Given the description of an element on the screen output the (x, y) to click on. 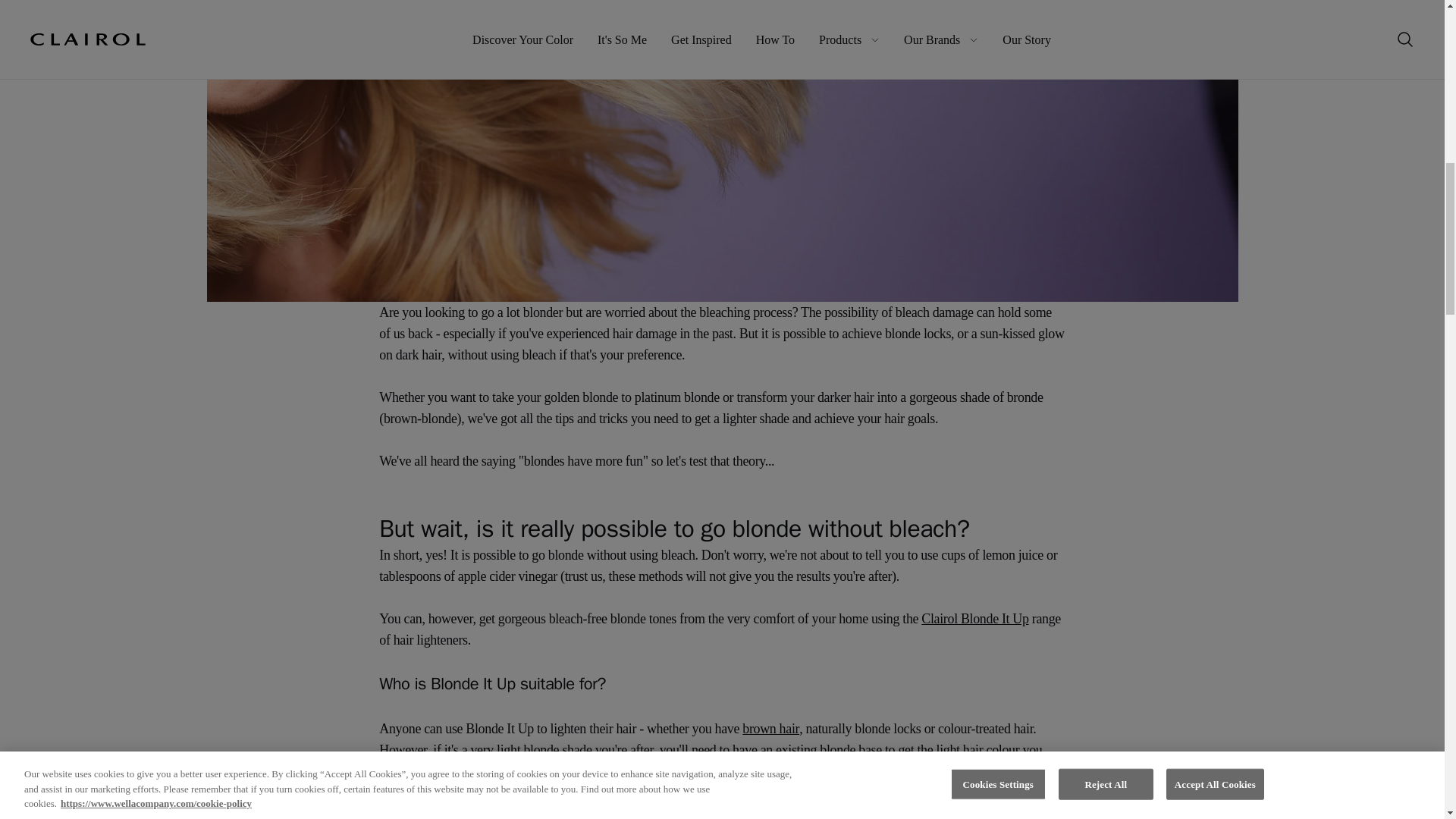
Clairol Blonde It Up (974, 618)
blonde shade (556, 749)
brown hair (770, 728)
